Given the description of an element on the screen output the (x, y) to click on. 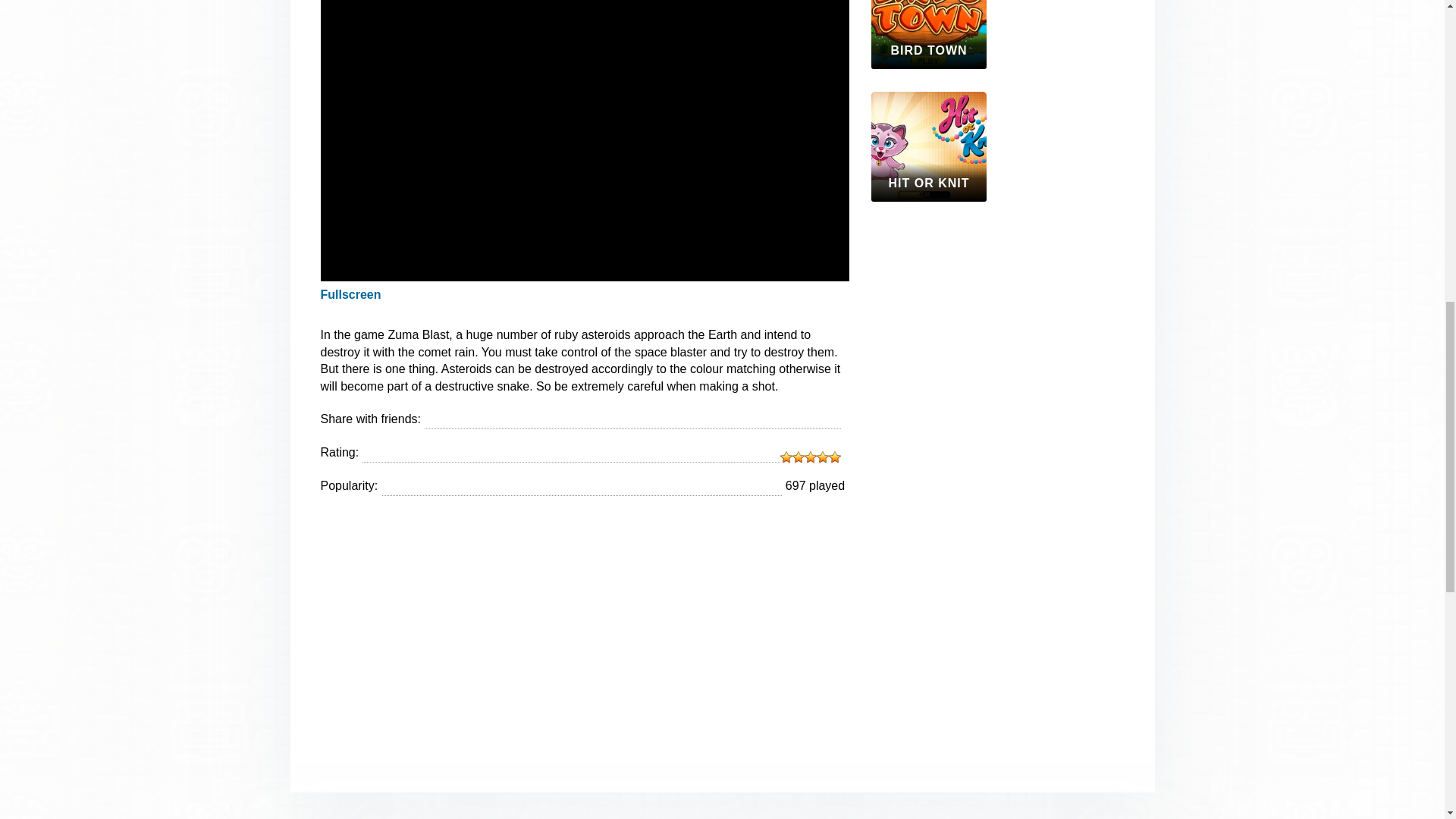
BIRD TOWN (928, 34)
4 Stars (822, 457)
3 Stars (810, 457)
5 Stars (834, 457)
2 Stars (798, 457)
HIT OR KNIT (928, 146)
1 Star (786, 457)
Fullscreen (350, 294)
